Given the description of an element on the screen output the (x, y) to click on. 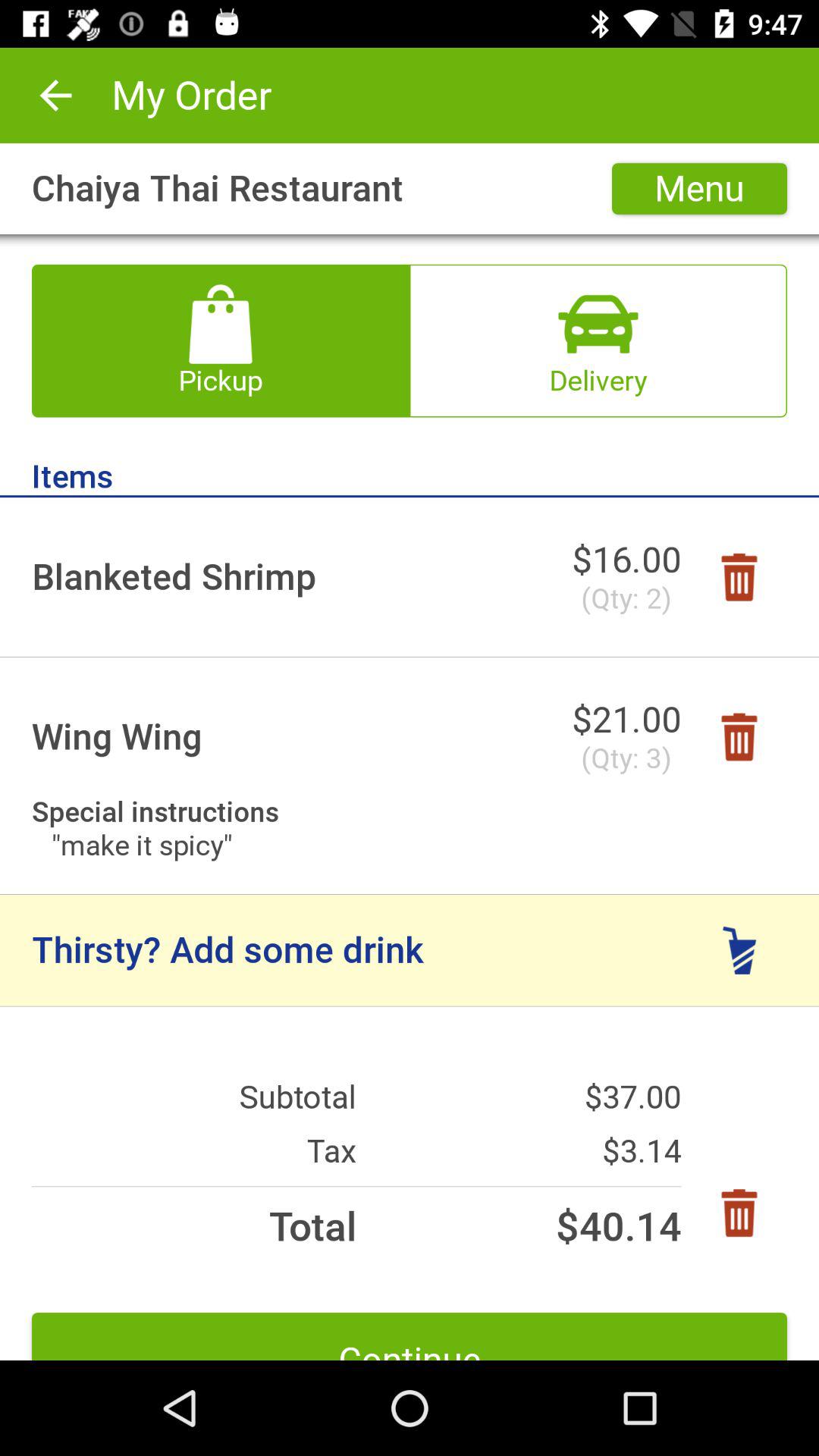
choose the menu (699, 188)
